Given the description of an element on the screen output the (x, y) to click on. 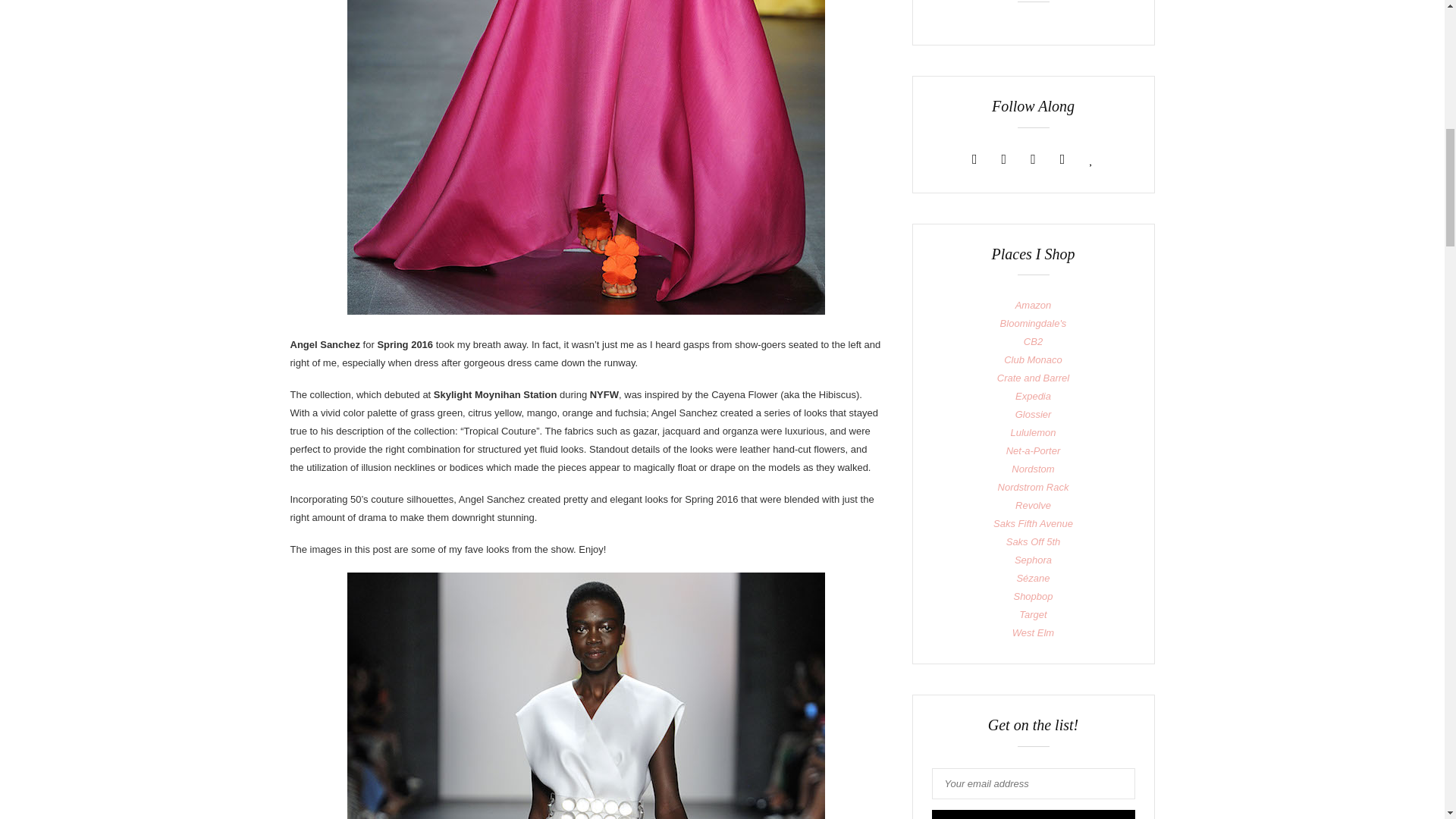
Josephina Collection (586, 695)
Subscribe (1032, 814)
